Given the description of an element on the screen output the (x, y) to click on. 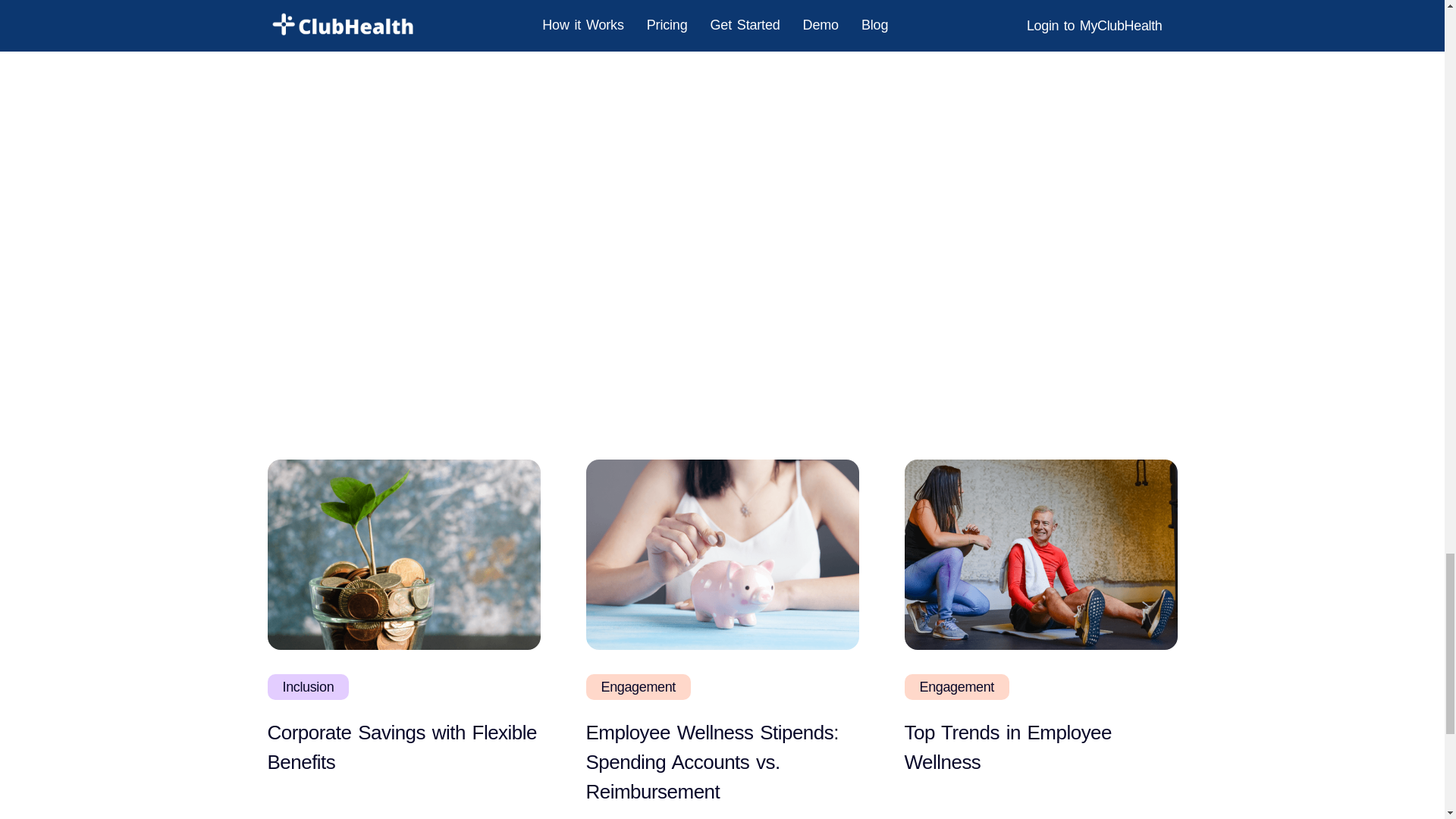
Subscribe (876, 191)
